Given the description of an element on the screen output the (x, y) to click on. 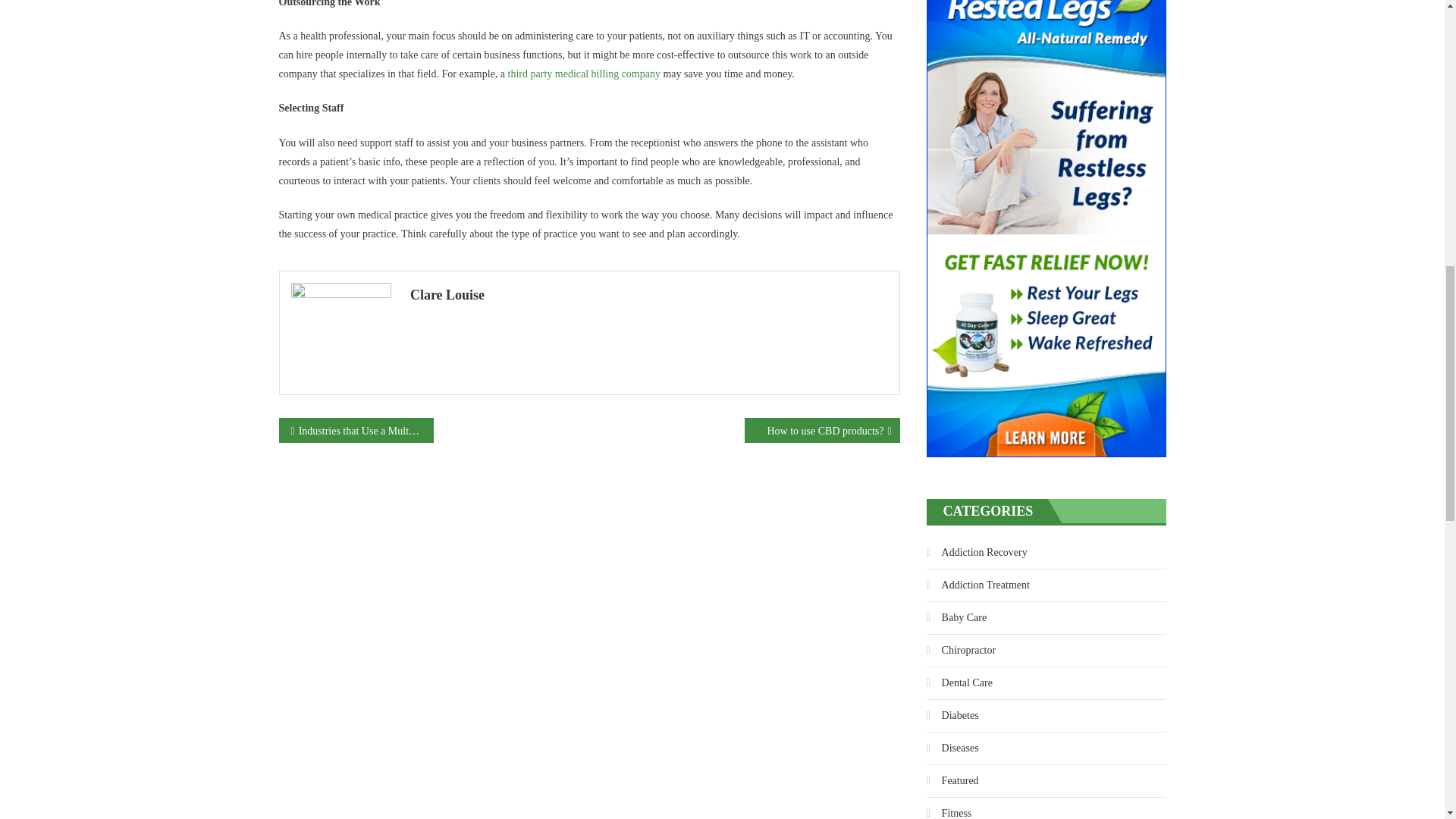
Industries that Use a Multi-channel Pipette (356, 429)
Clare Louise (649, 293)
third party medical billing company (584, 73)
How to use CBD products? (821, 429)
